Given the description of an element on the screen output the (x, y) to click on. 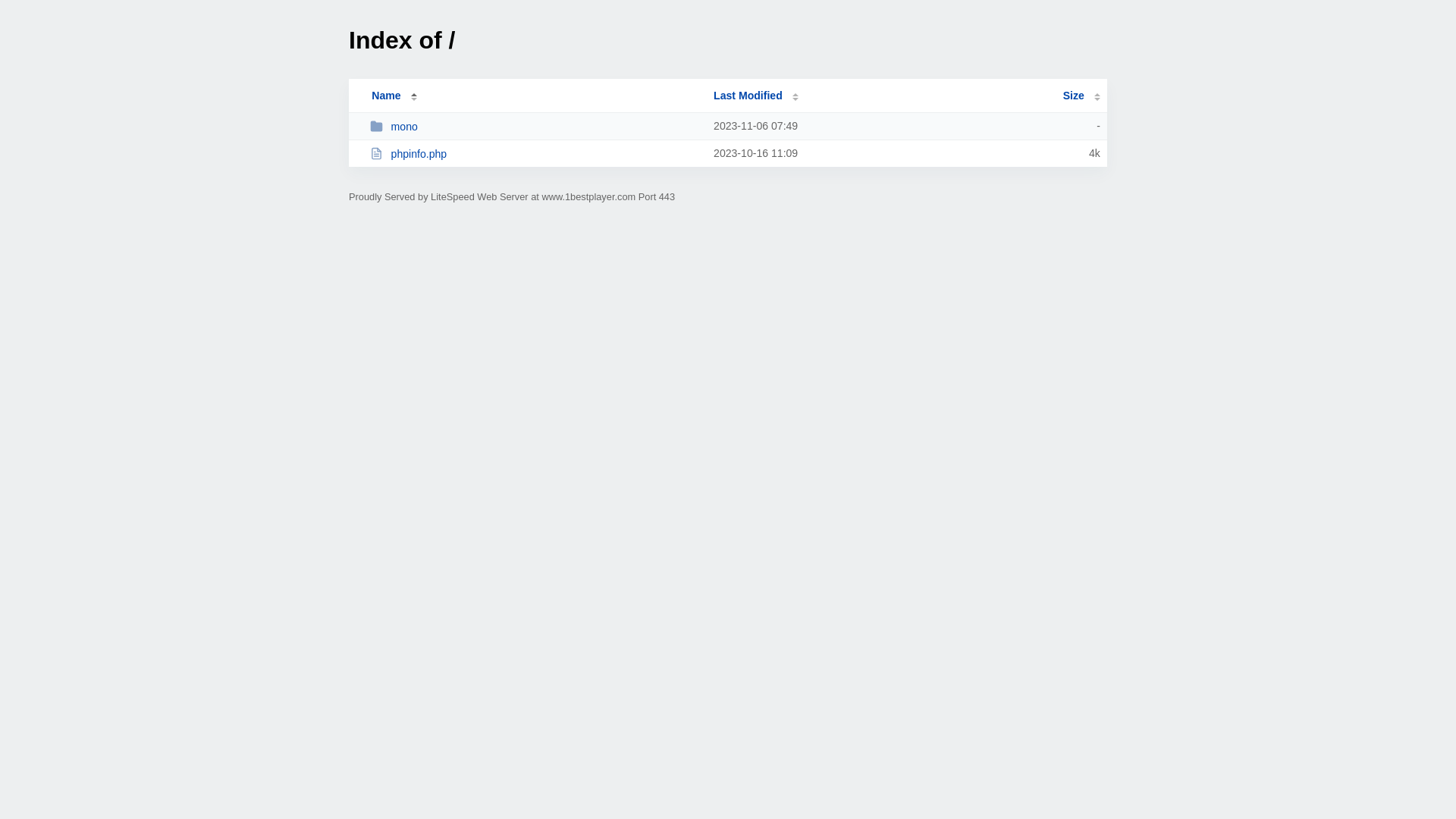
Name Element type: text (385, 95)
mono Element type: text (534, 125)
phpinfo.php Element type: text (534, 153)
Size Element type: text (1081, 95)
Last Modified Element type: text (755, 95)
